Given the description of an element on the screen output the (x, y) to click on. 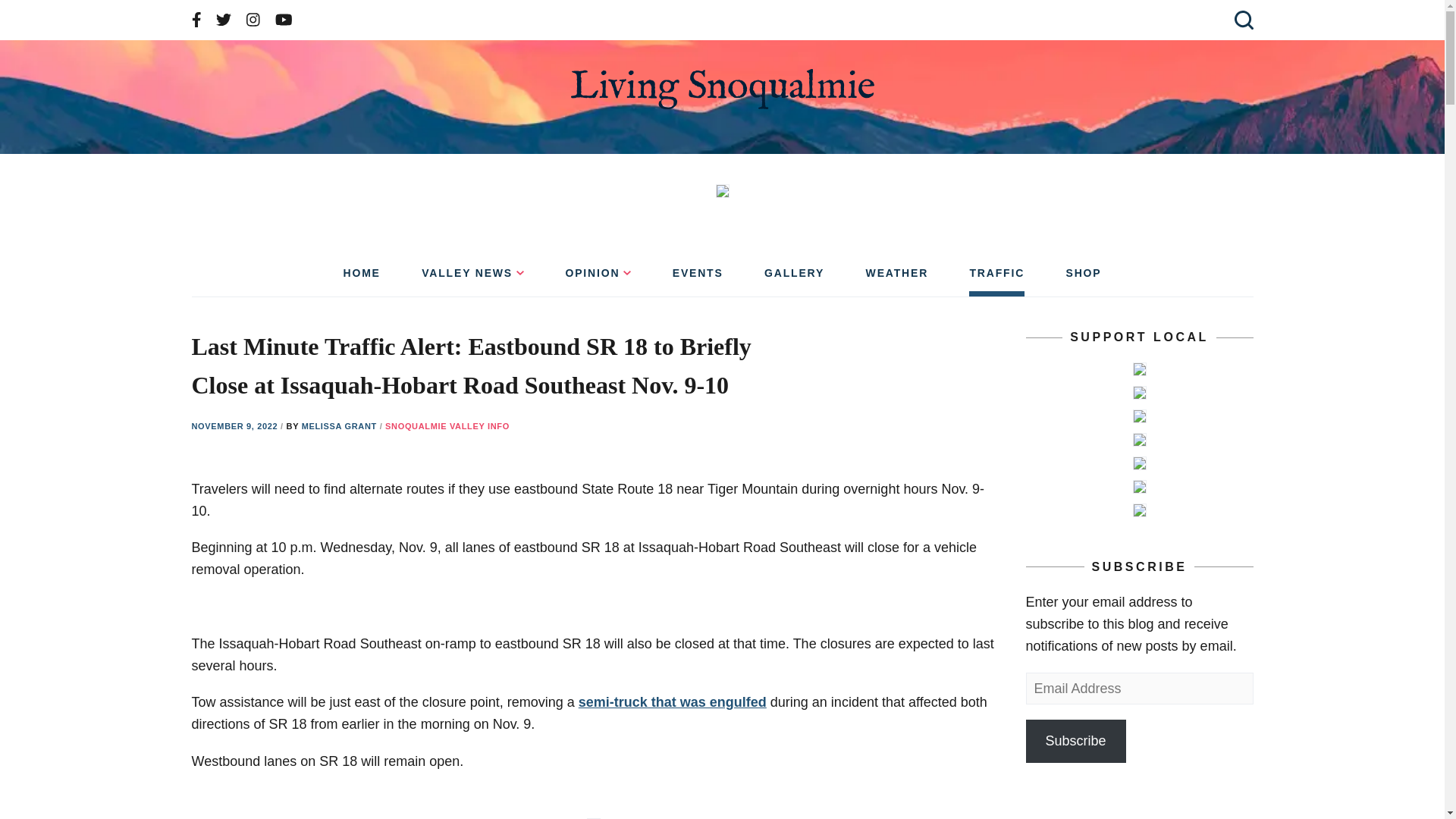
MELISSA GRANT (340, 425)
YouTube (283, 19)
Twitter (223, 19)
GALLERY (794, 278)
Instagram (253, 19)
SHOP (1083, 278)
OPINION (597, 278)
SNOQUALMIE VALLEY INFO (447, 425)
EVENTS (697, 278)
HOME (361, 278)
